Given the description of an element on the screen output the (x, y) to click on. 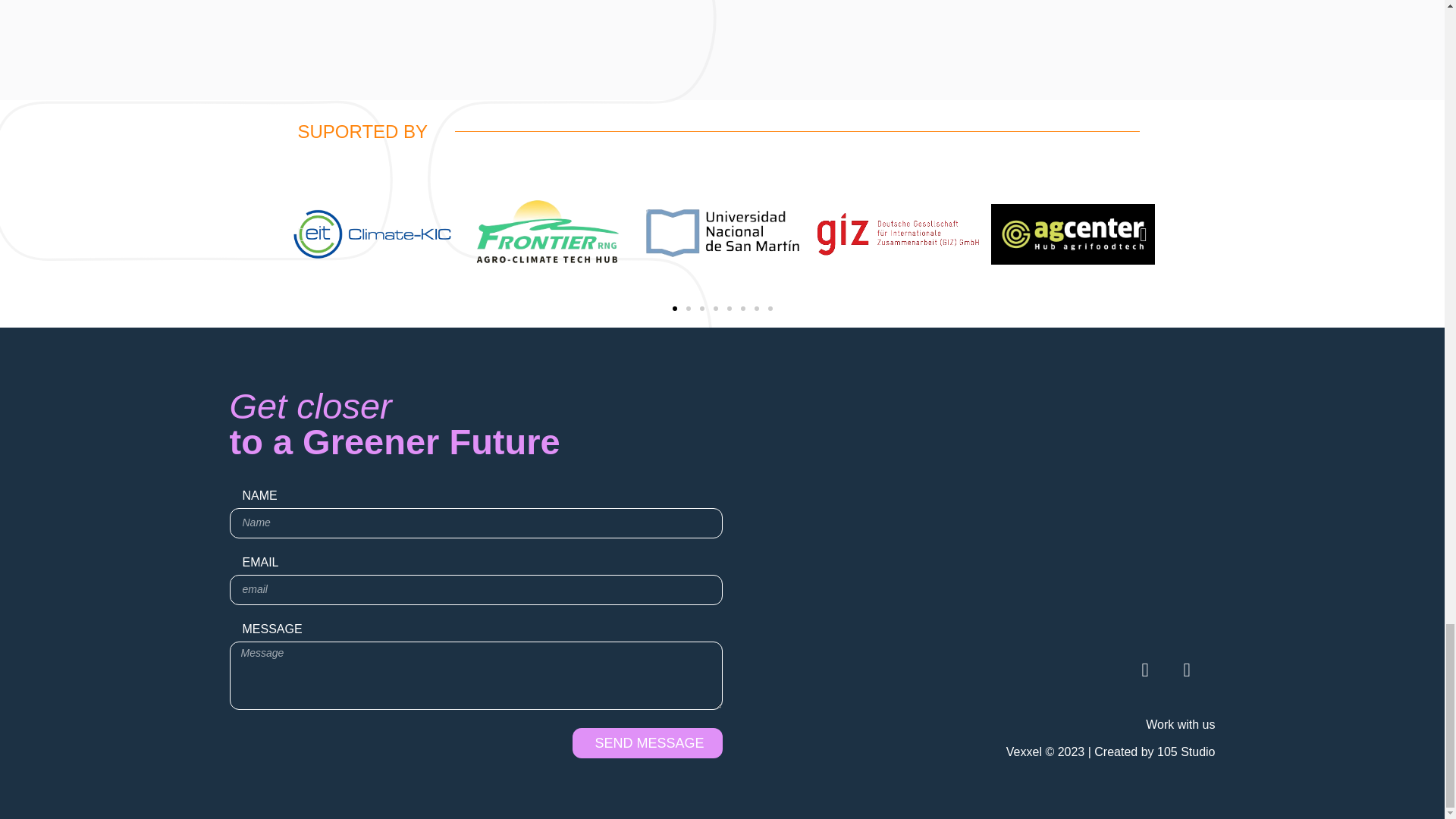
Work with us (1179, 724)
SEND MESSAGE (647, 743)
